Given the description of an element on the screen output the (x, y) to click on. 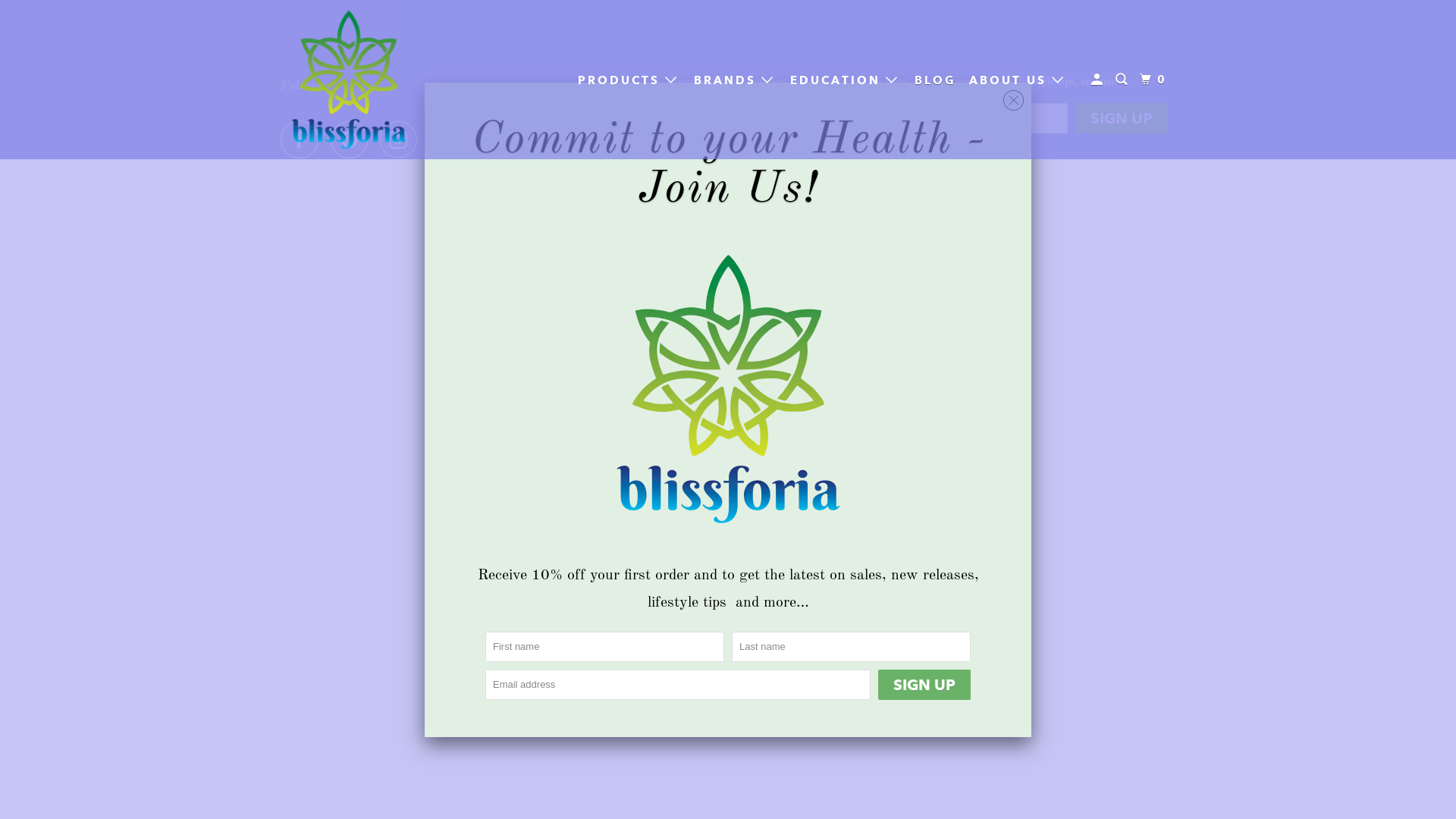
Sign Up Element type: text (1121, 118)
Search Element type: hover (1123, 79)
Blissforia on Pinterest Element type: hover (352, 140)
Blissforia on Facebook Element type: hover (303, 140)
My Account  Element type: hover (1099, 79)
Blissforia on Instagram Element type: hover (402, 140)
Blissforia Element type: hover (348, 79)
0 Element type: text (1154, 79)
Sign Up Element type: text (924, 683)
Blissforia Element type: text (731, 161)
Powered by Shopify Element type: text (715, 180)
Email Blissforia Element type: hover (452, 140)
Close Element type: hover (1013, 100)
BLOG Element type: text (935, 79)
